Given the description of an element on the screen output the (x, y) to click on. 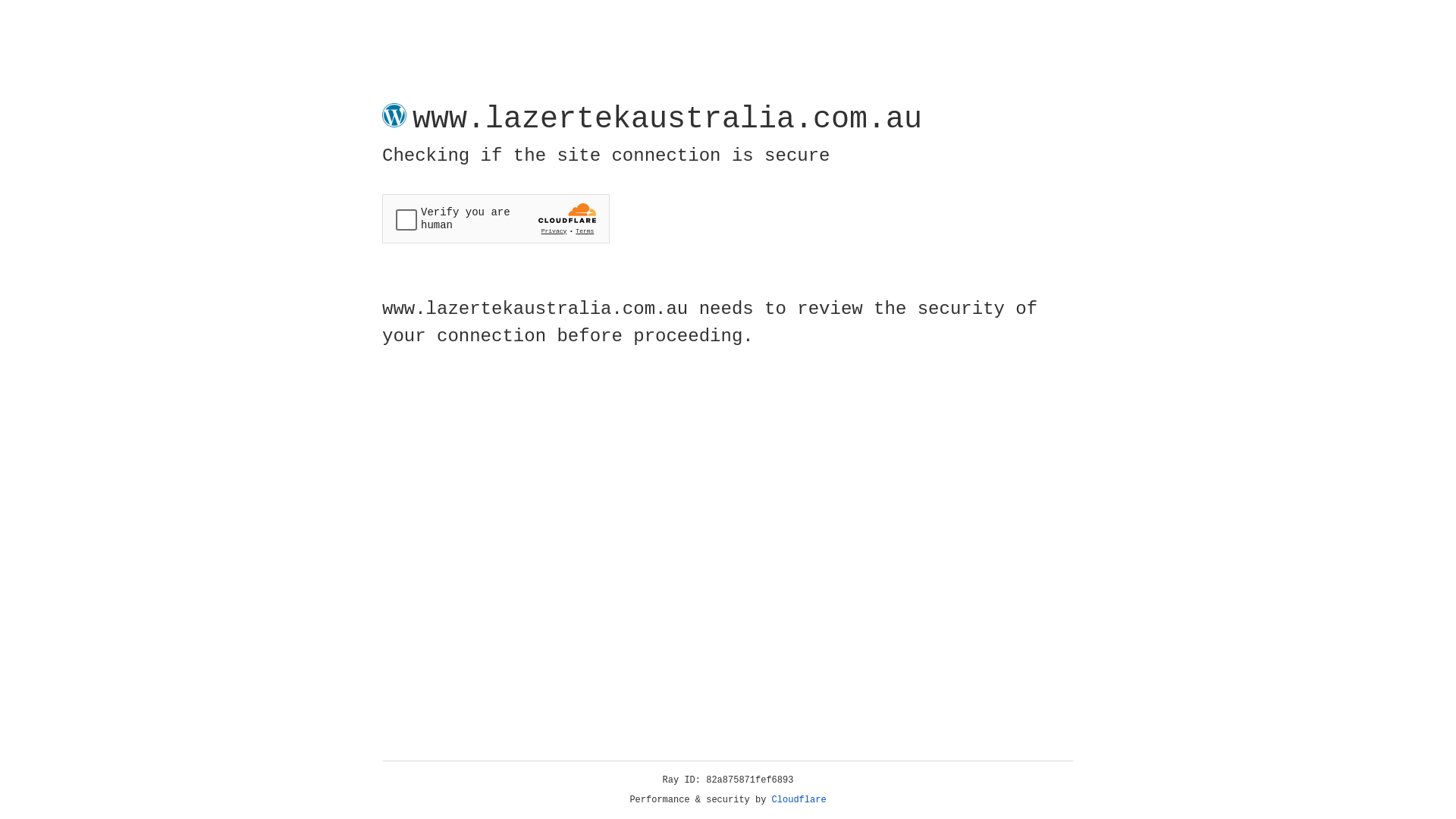
Widget containing a Cloudflare security challenge Element type: hover (495, 218)
Cloudflare Element type: text (798, 799)
